Given the description of an element on the screen output the (x, y) to click on. 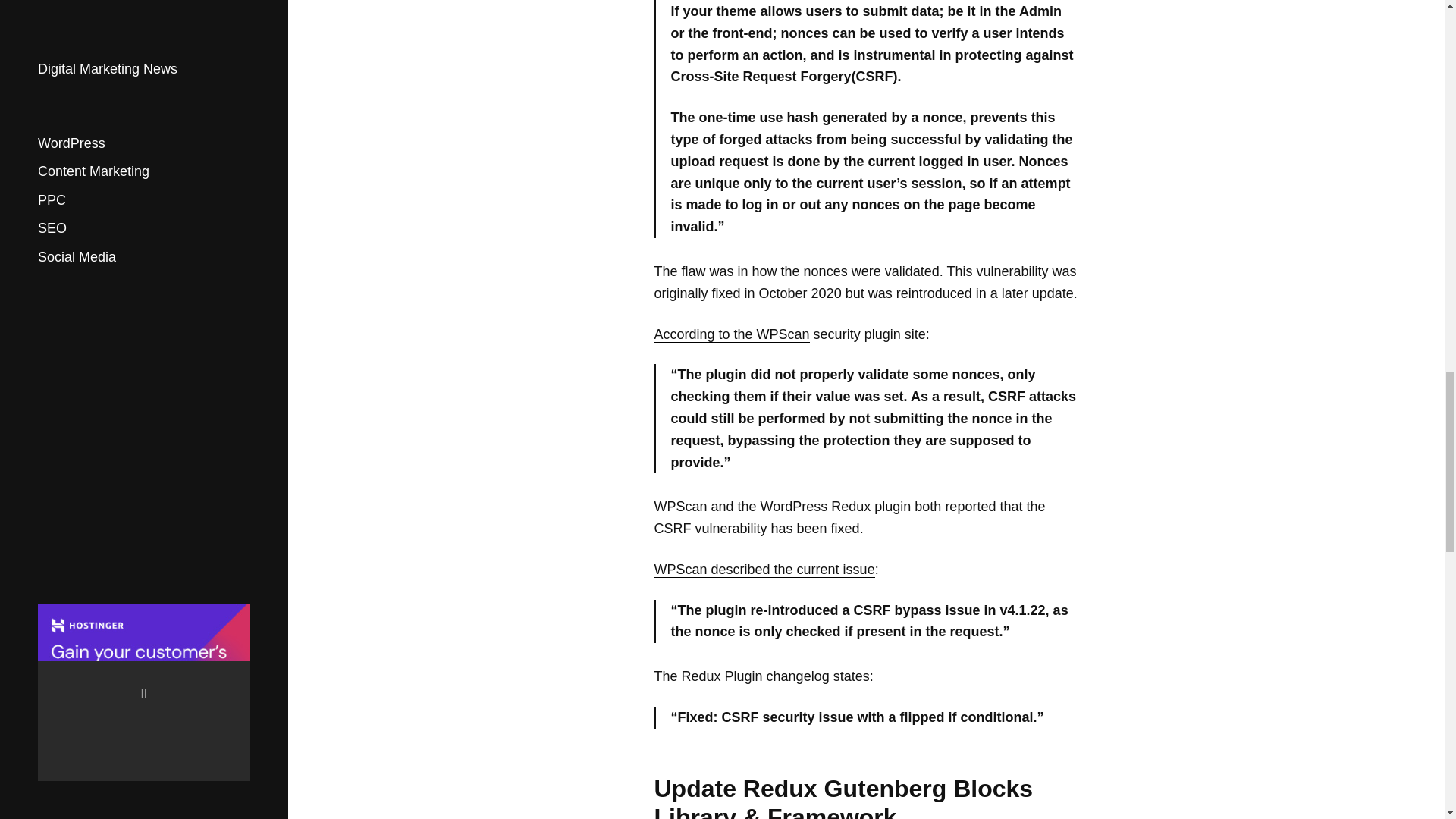
WPScan described the current issue (764, 569)
According to the WPScan (731, 334)
